Given the description of an element on the screen output the (x, y) to click on. 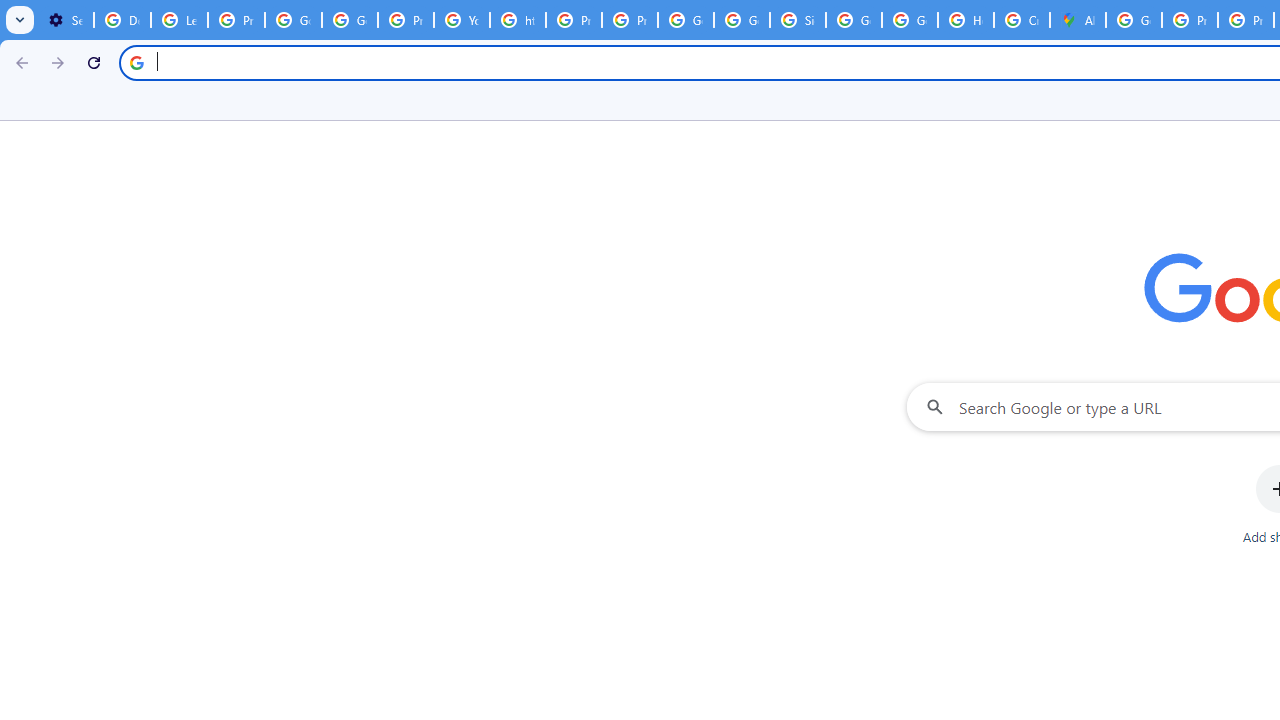
YouTube (461, 20)
Delete photos & videos - Computer - Google Photos Help (122, 20)
Sign in - Google Accounts (797, 20)
